Given the description of an element on the screen output the (x, y) to click on. 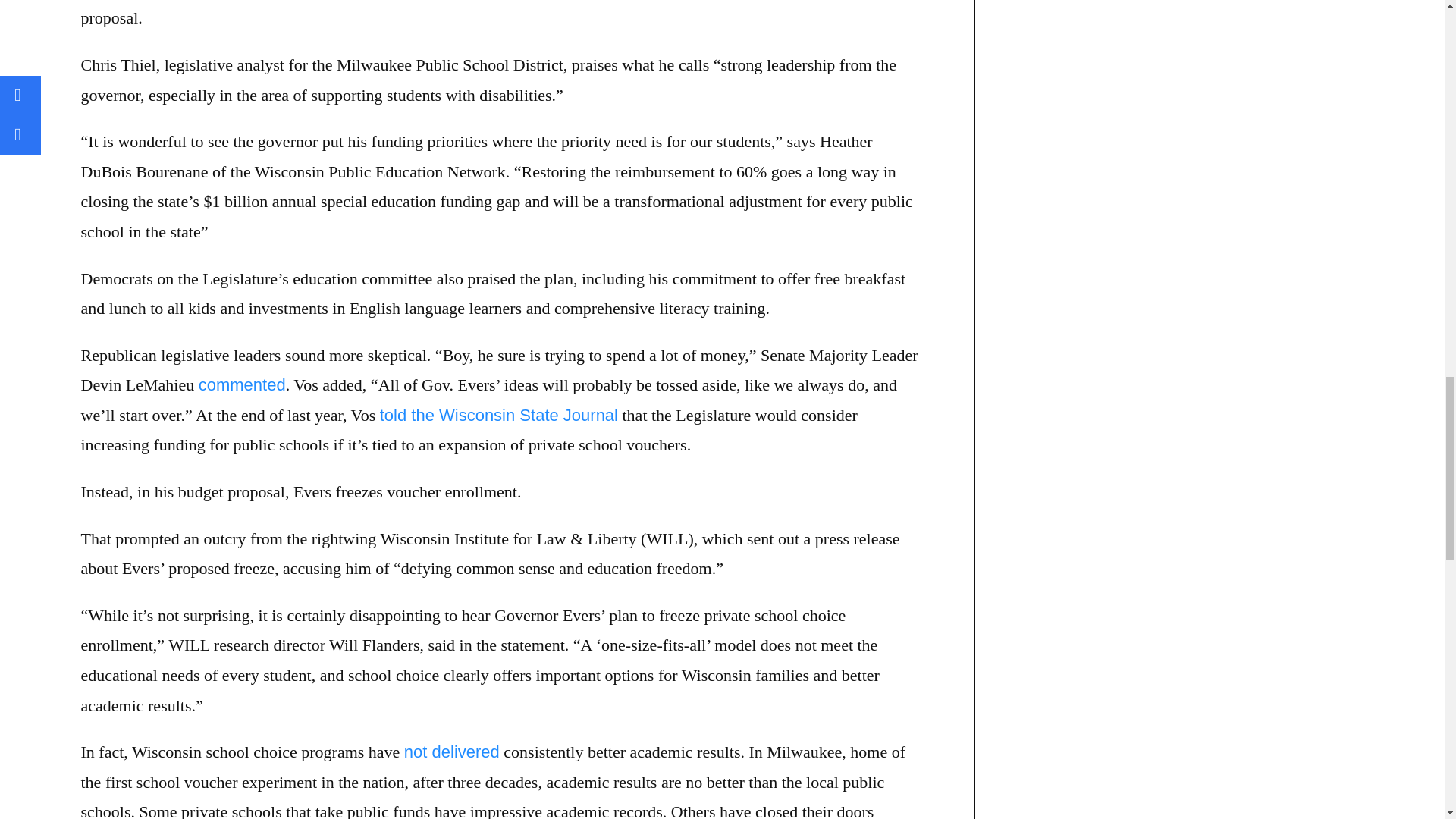
commented (241, 384)
told the Wisconsin State Journal (498, 415)
not delivered (451, 751)
